Given the description of an element on the screen output the (x, y) to click on. 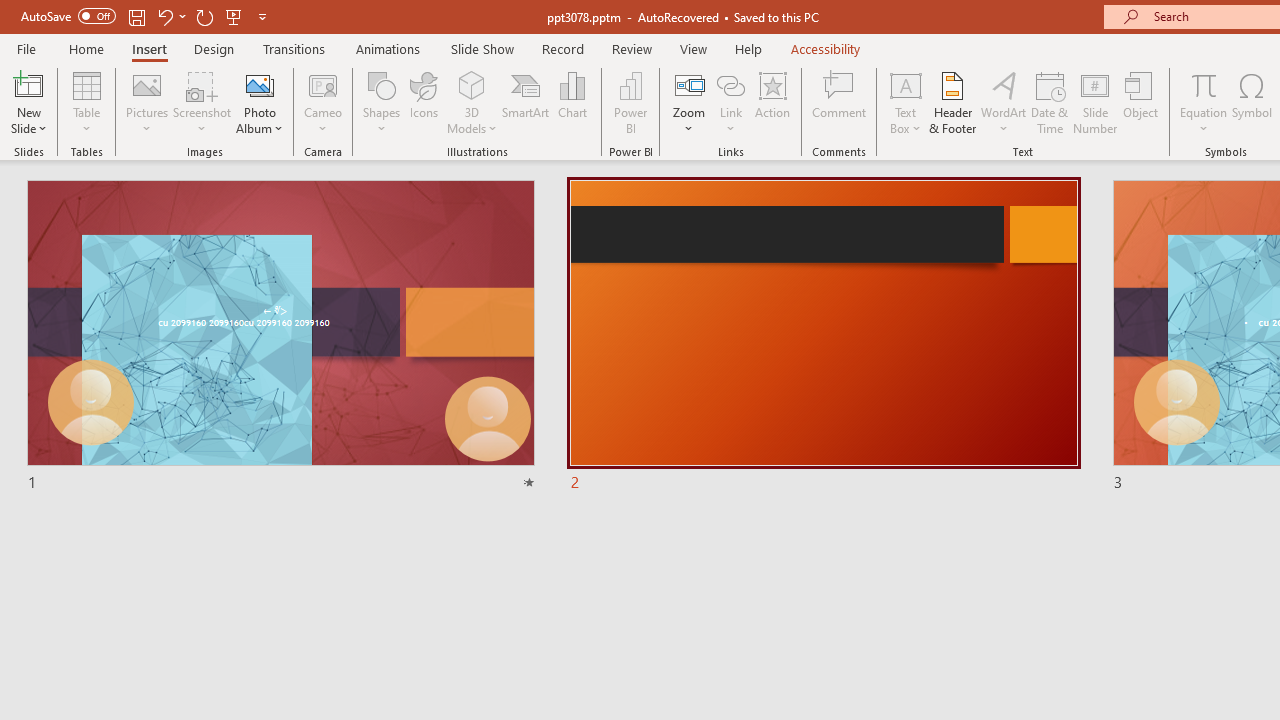
Date & Time... (1050, 102)
Screenshot (202, 102)
Table (86, 102)
Icons (424, 102)
Slide Number (1095, 102)
